Given the description of an element on the screen output the (x, y) to click on. 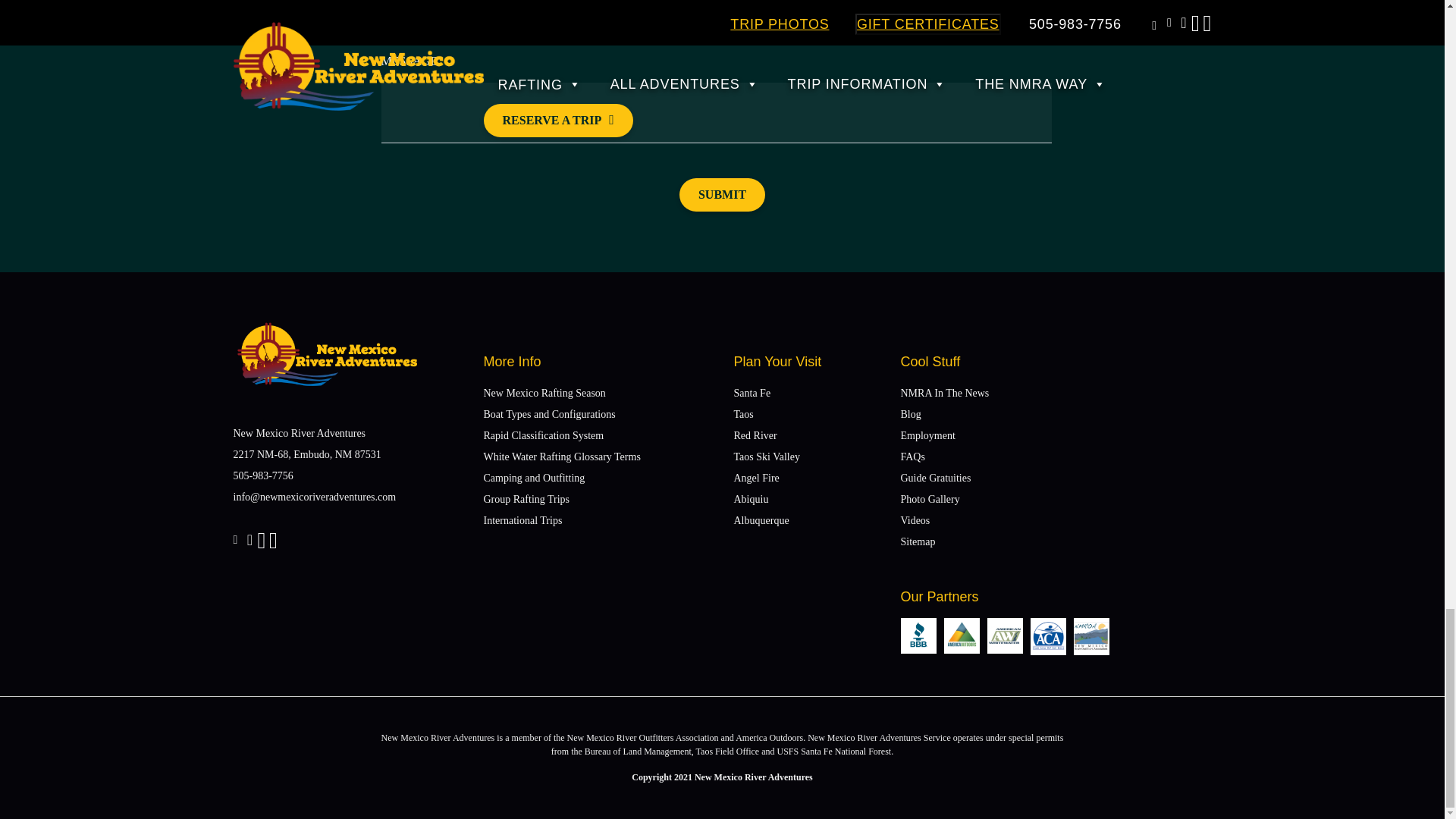
Submit (722, 194)
